Given the description of an element on the screen output the (x, y) to click on. 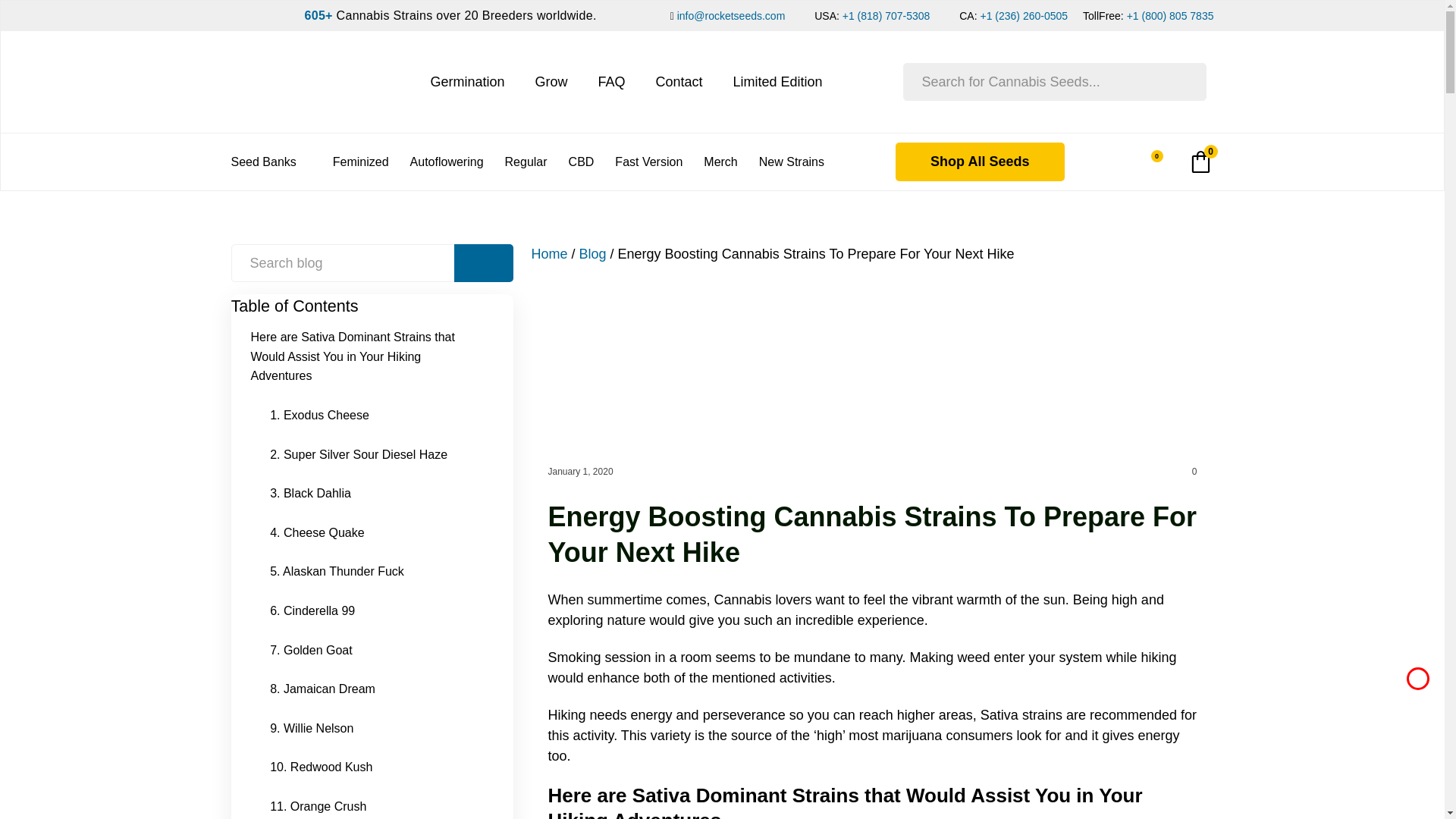
9. Willie Nelson (317, 728)
5. Alaskan Thunder Fuck (341, 571)
Grow (550, 81)
7. Golden Goat (316, 650)
3. Black Dahlia (315, 493)
Germination (466, 81)
1. Exodus Cheese (324, 414)
8. Jamaican Dream (328, 689)
Seed Banks (270, 161)
6. Cinderella 99 (317, 610)
11. Orange Crush (323, 803)
Contact (678, 81)
FAQ (610, 81)
10. Redwood Kush (326, 767)
Limited Edition (777, 81)
